Given the description of an element on the screen output the (x, y) to click on. 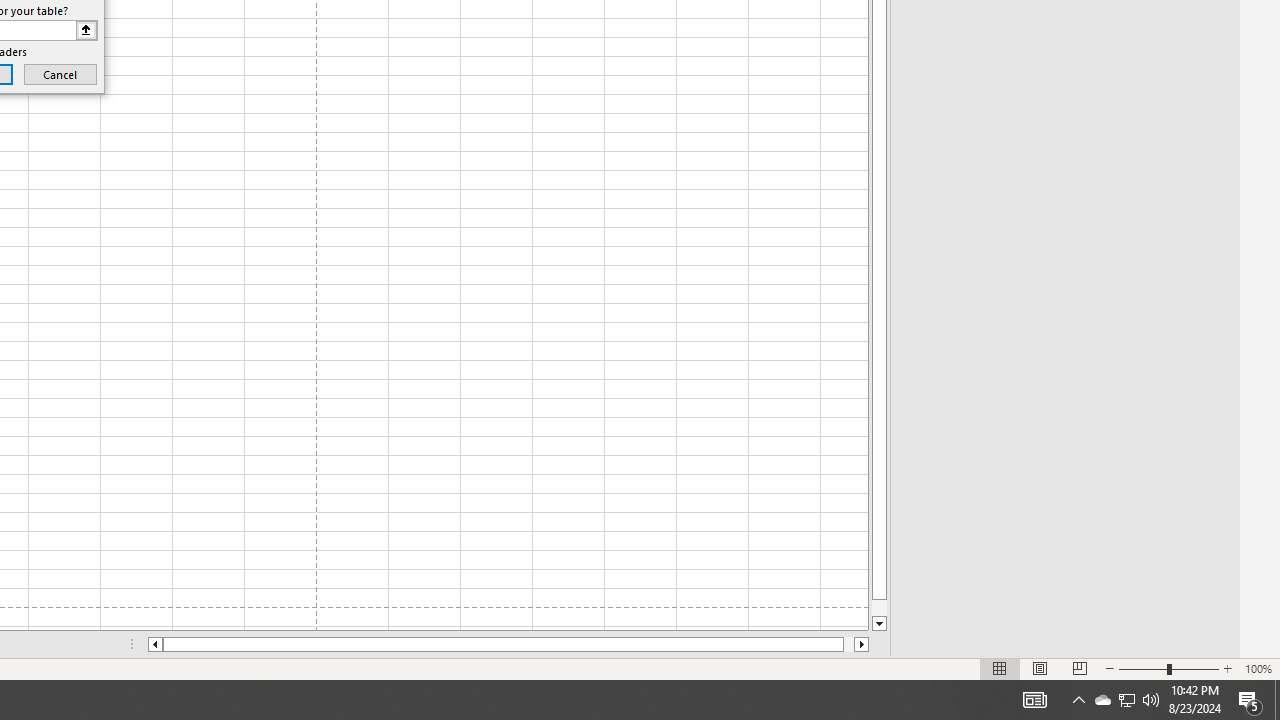
Column left (153, 644)
Page down (879, 607)
Zoom (1168, 668)
Zoom In (1227, 668)
Normal (1000, 668)
Page Layout (1039, 668)
Line down (879, 624)
Column right (861, 644)
Page right (848, 644)
Page Break Preview (1079, 668)
Zoom Out (1142, 668)
Class: NetUIScrollBar (507, 644)
